Given the description of an element on the screen output the (x, y) to click on. 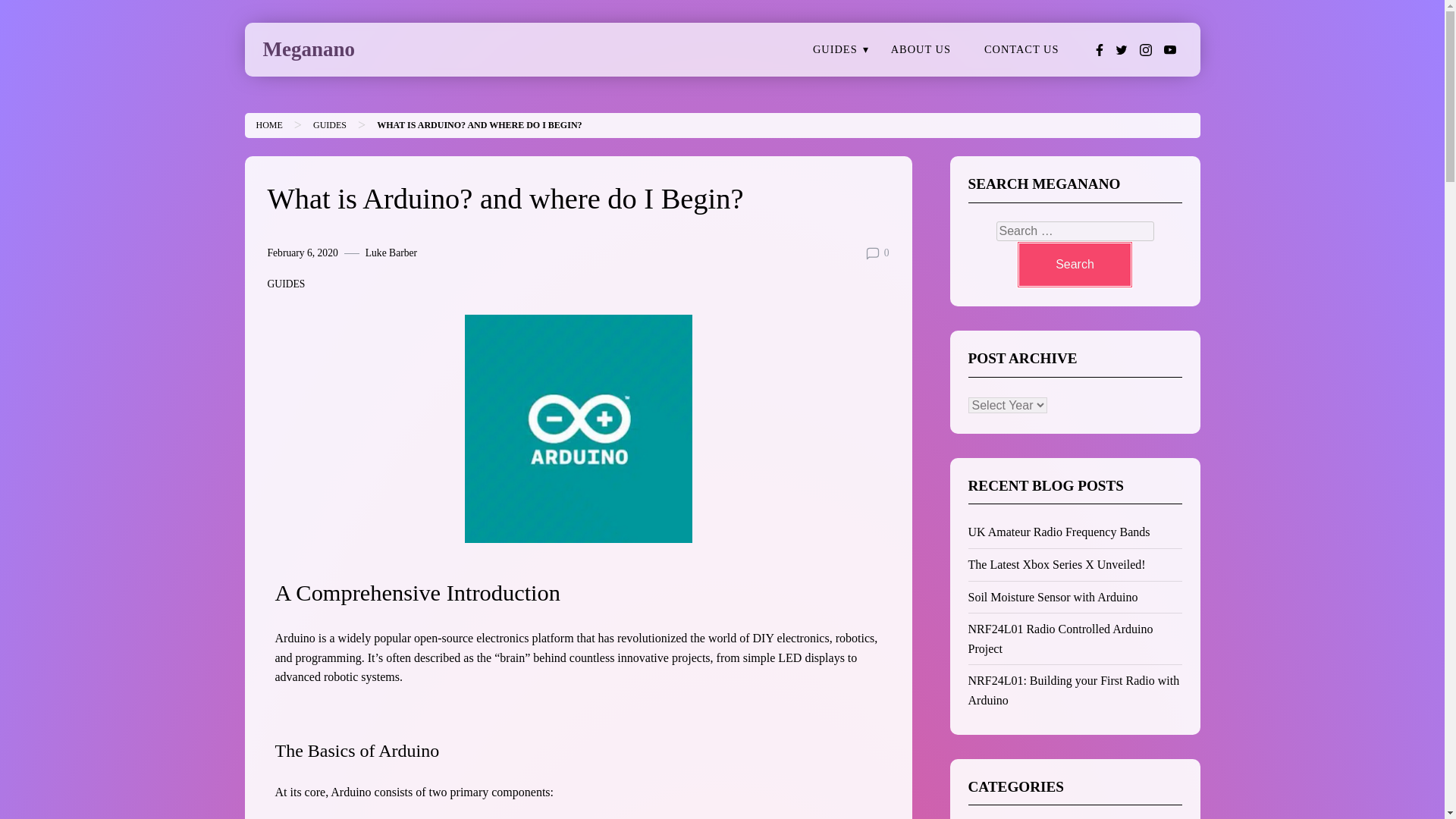
Search (1074, 264)
What is Arduino? and where do I Begin? (478, 124)
Meganano (308, 48)
CONTACT US (1021, 49)
Luke Barber (390, 252)
Search (1074, 264)
GUIDES (285, 284)
HOME (269, 124)
GUIDES (329, 124)
February 6, 2020 (301, 252)
ABOUT US (921, 49)
Home (269, 124)
GUIDES (834, 49)
